Given the description of an element on the screen output the (x, y) to click on. 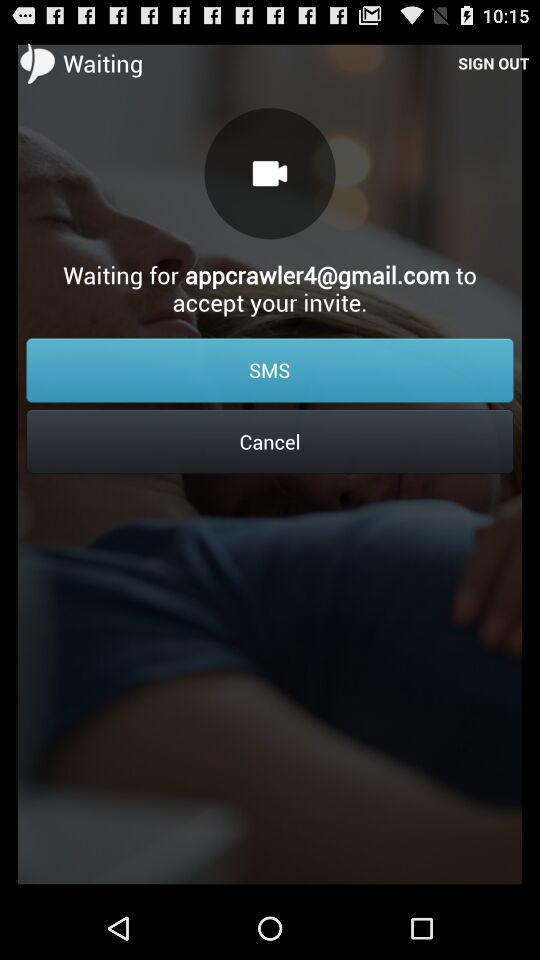
choose the icon at the top right corner (493, 62)
